Given the description of an element on the screen output the (x, y) to click on. 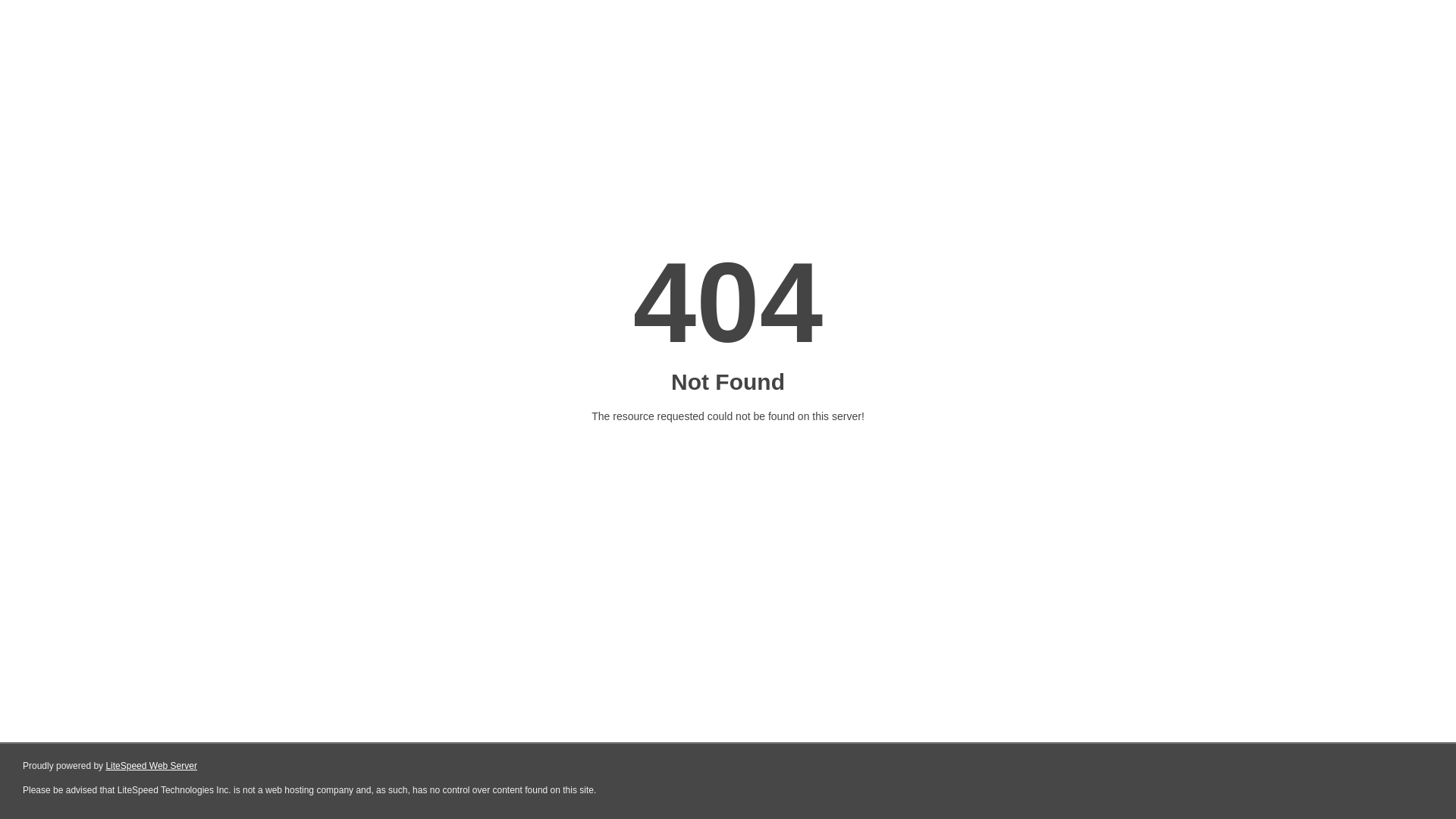
LiteSpeed Web Server Element type: text (151, 765)
